Given the description of an element on the screen output the (x, y) to click on. 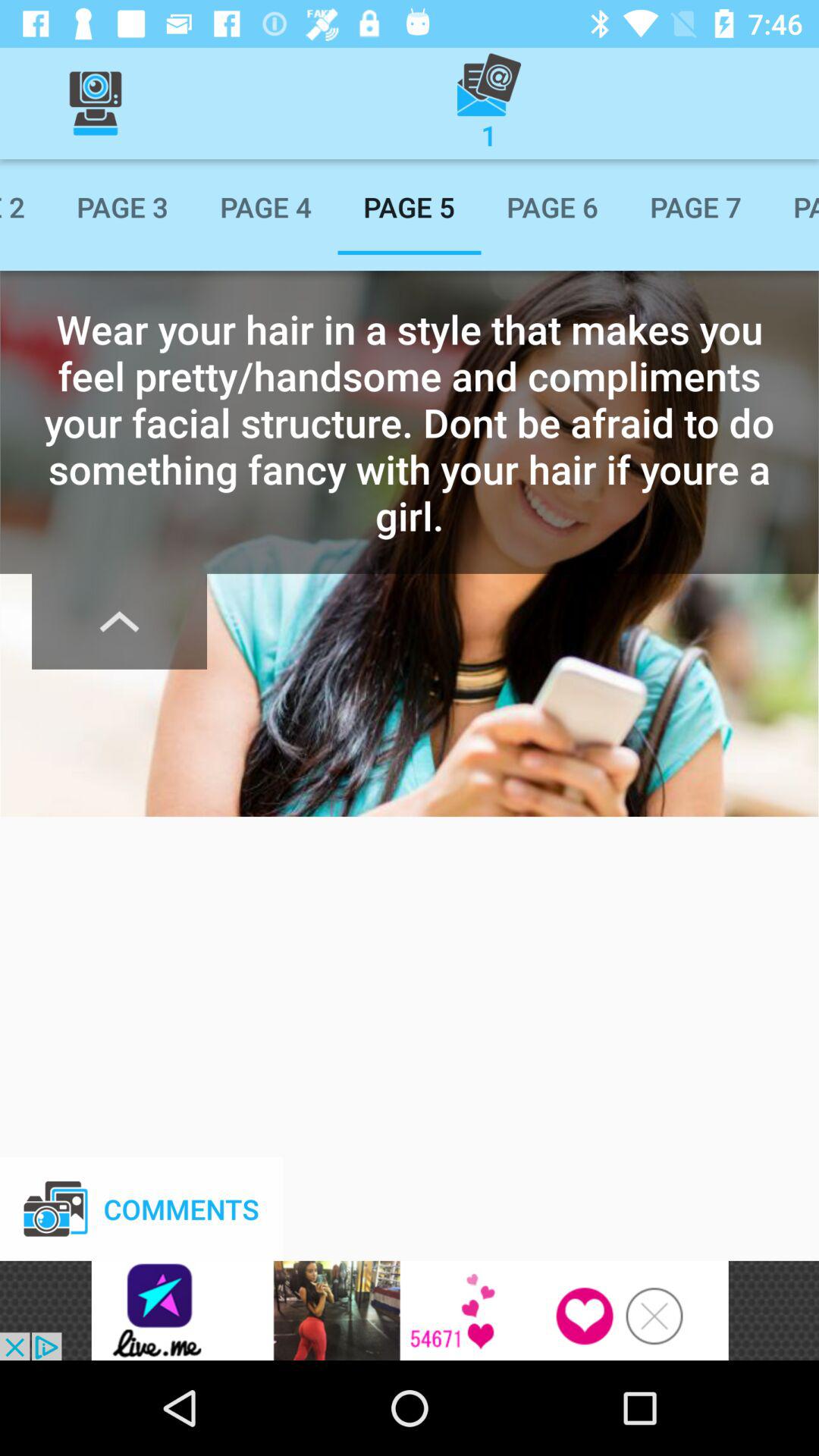
minimize text information (119, 621)
